Given the description of an element on the screen output the (x, y) to click on. 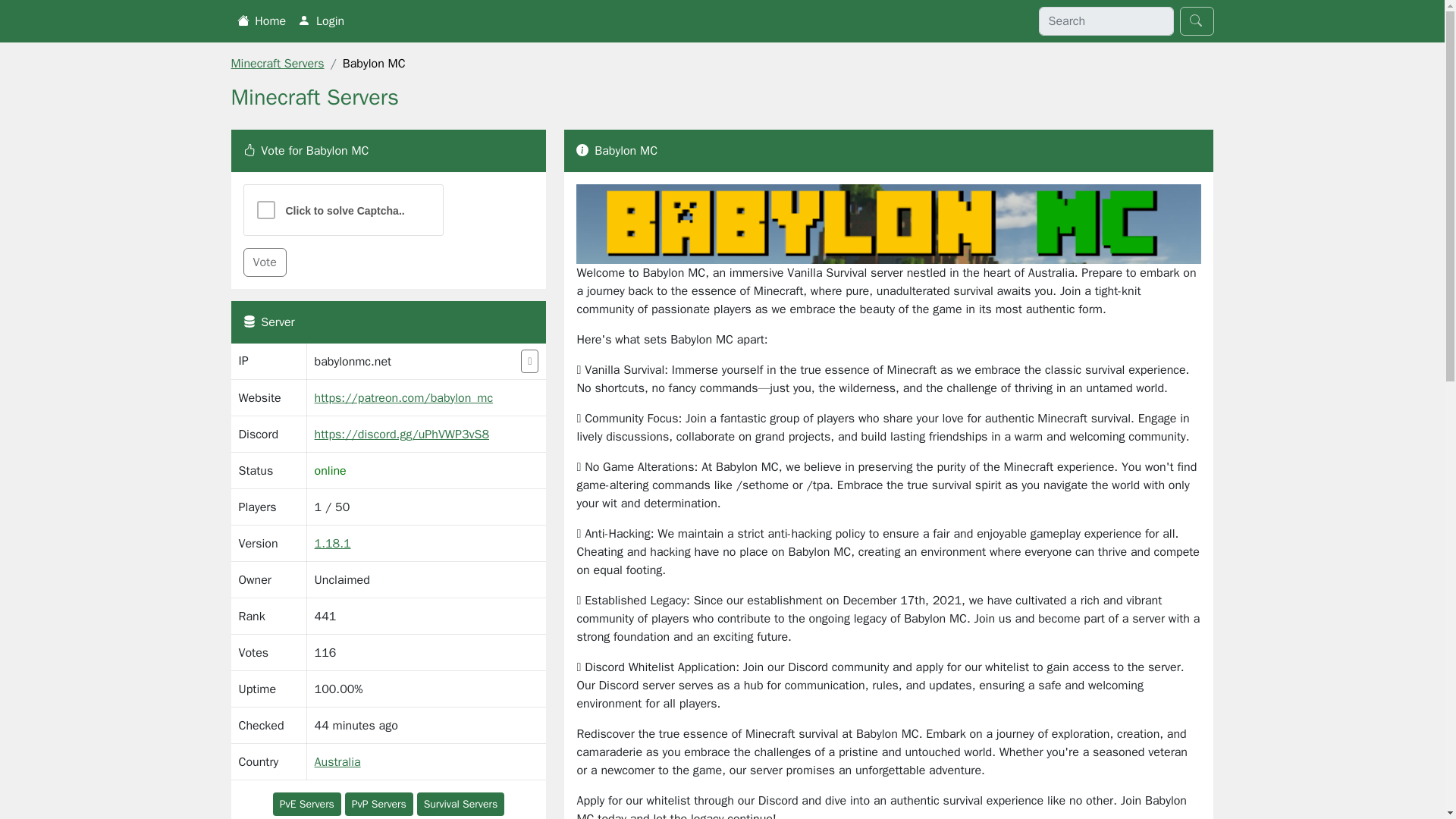
1.18.1 (332, 543)
Home (261, 20)
Vote (264, 262)
Survival Servers (460, 803)
Minecraft Servers (276, 63)
PvP Servers (379, 803)
Australia (337, 761)
PvE Servers (306, 803)
Login (321, 20)
Search (1196, 21)
